Given the description of an element on the screen output the (x, y) to click on. 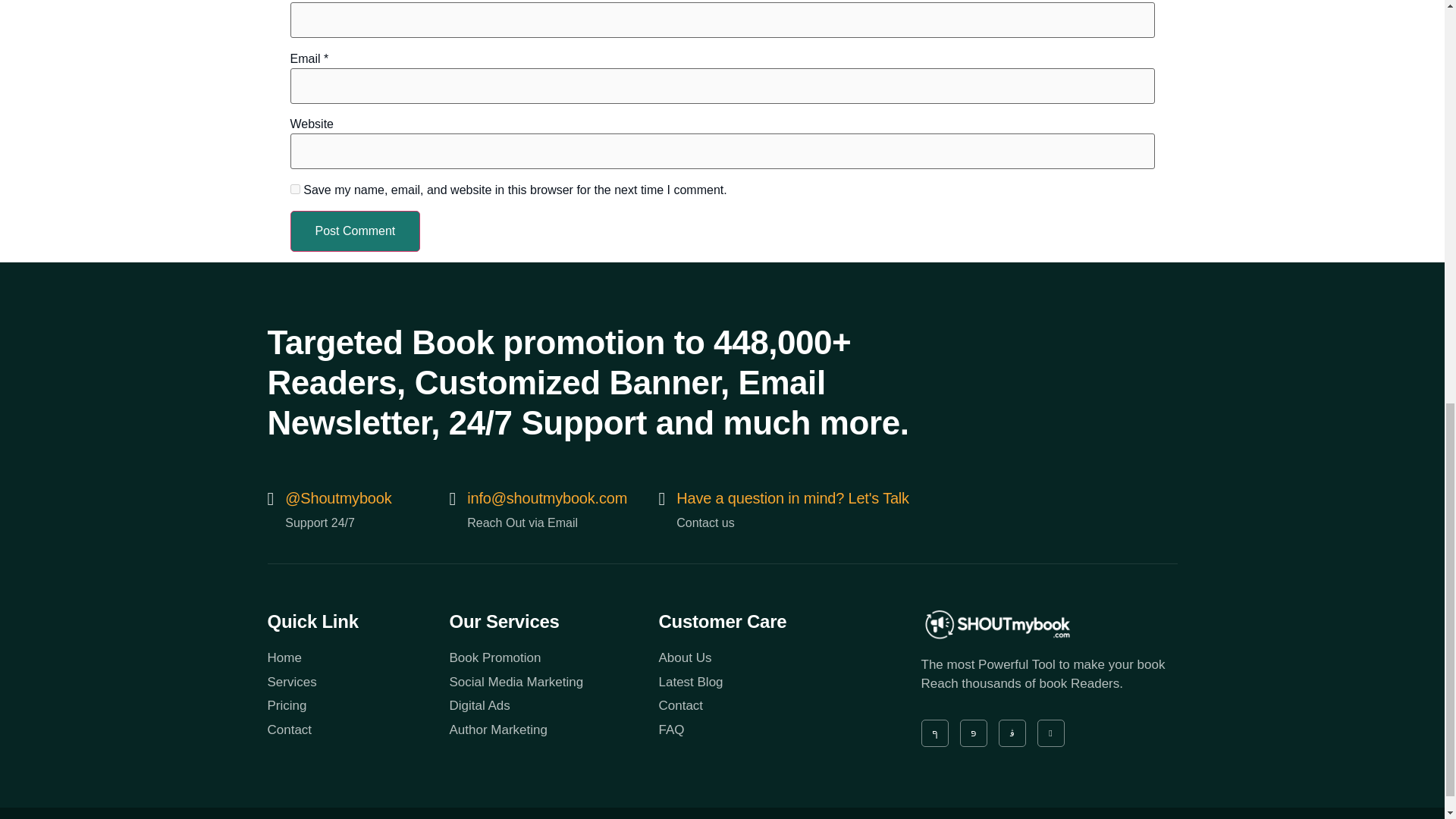
Accessibility Center (1130, 816)
Post Comment (354, 230)
Contact (357, 730)
yes (294, 189)
Author Marketing (553, 730)
Post Comment (354, 230)
Latest Blog (762, 682)
Contact (762, 705)
Pricing (357, 705)
Services (357, 682)
